Given the description of an element on the screen output the (x, y) to click on. 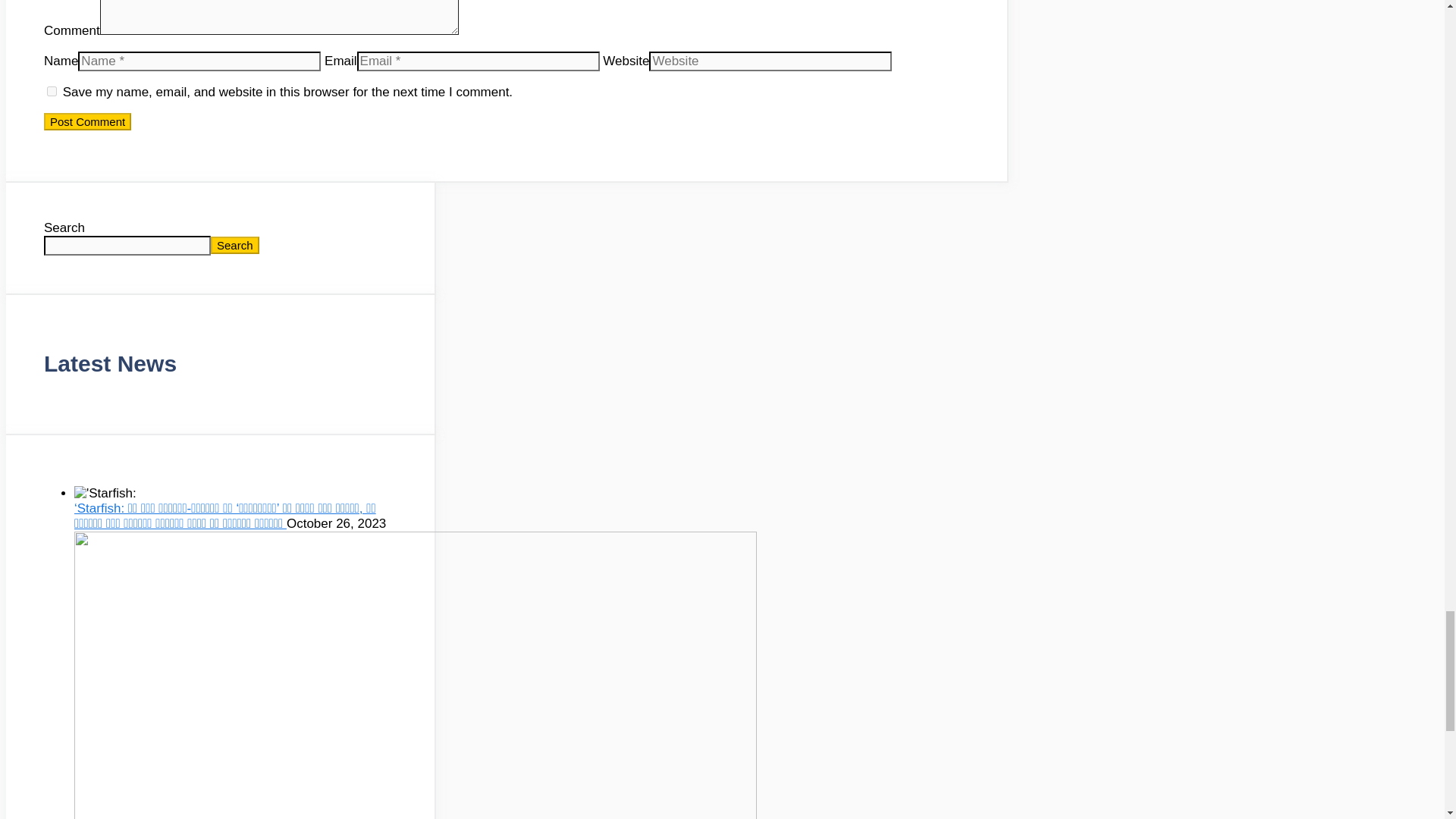
Post Comment (87, 121)
yes (51, 91)
